Given the description of an element on the screen output the (x, y) to click on. 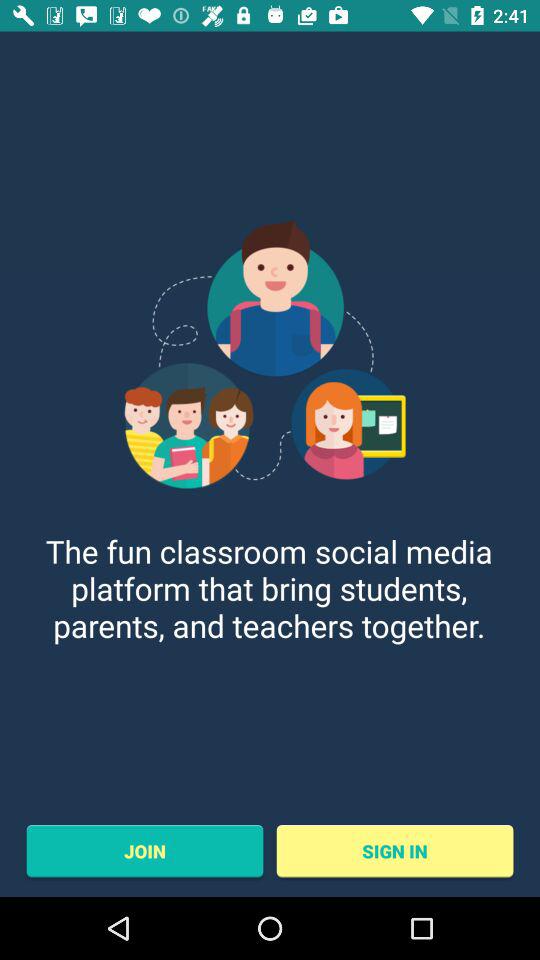
turn on the item next to the join icon (394, 851)
